Given the description of an element on the screen output the (x, y) to click on. 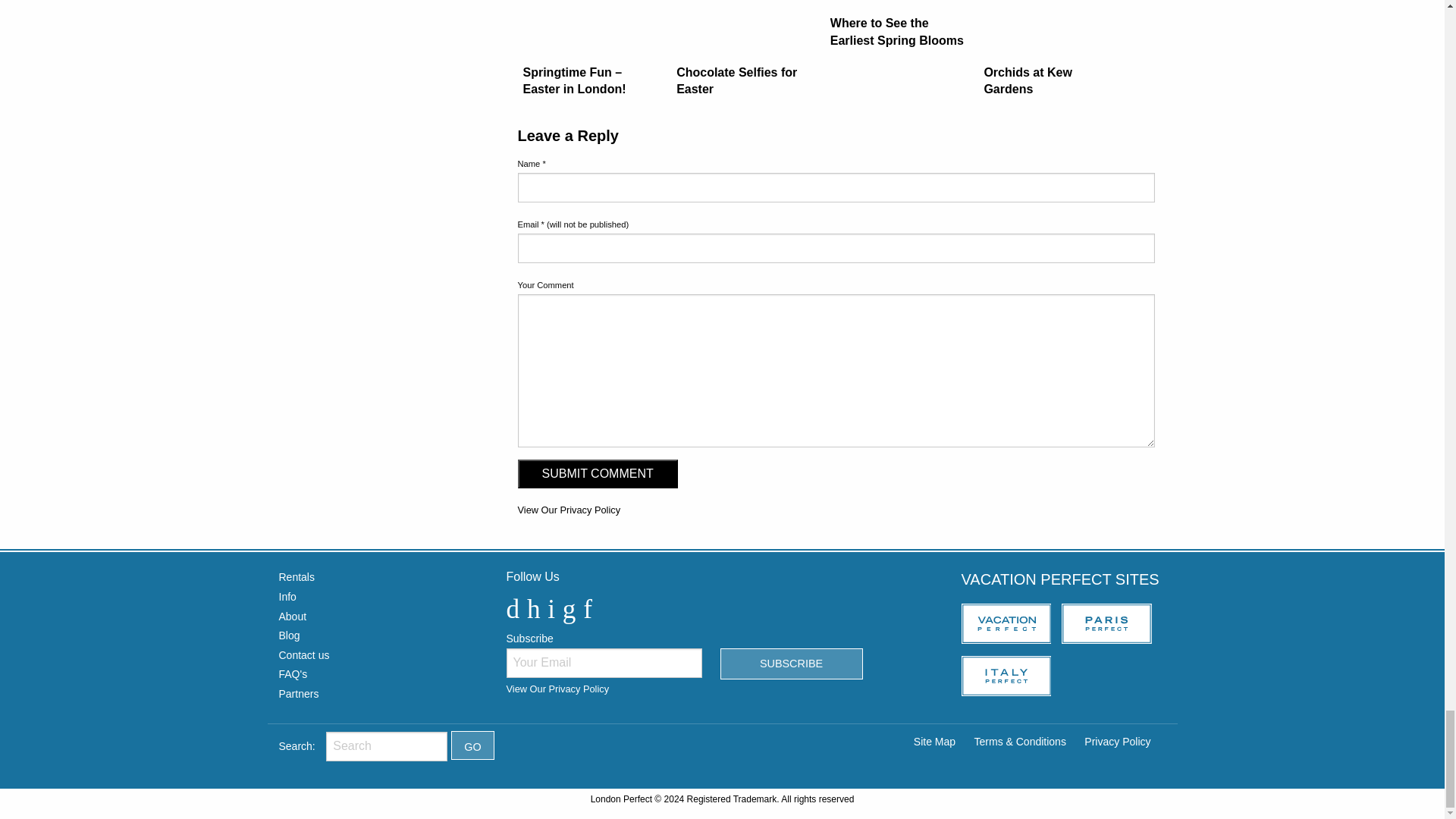
Orchids at Kew Gardens (1051, 54)
Chocolate Selfies for Easter (743, 54)
Where to See the Earliest Spring Blooms in London (898, 30)
Subscribe (791, 663)
Submit Comment (596, 473)
Go (473, 745)
